Given the description of an element on the screen output the (x, y) to click on. 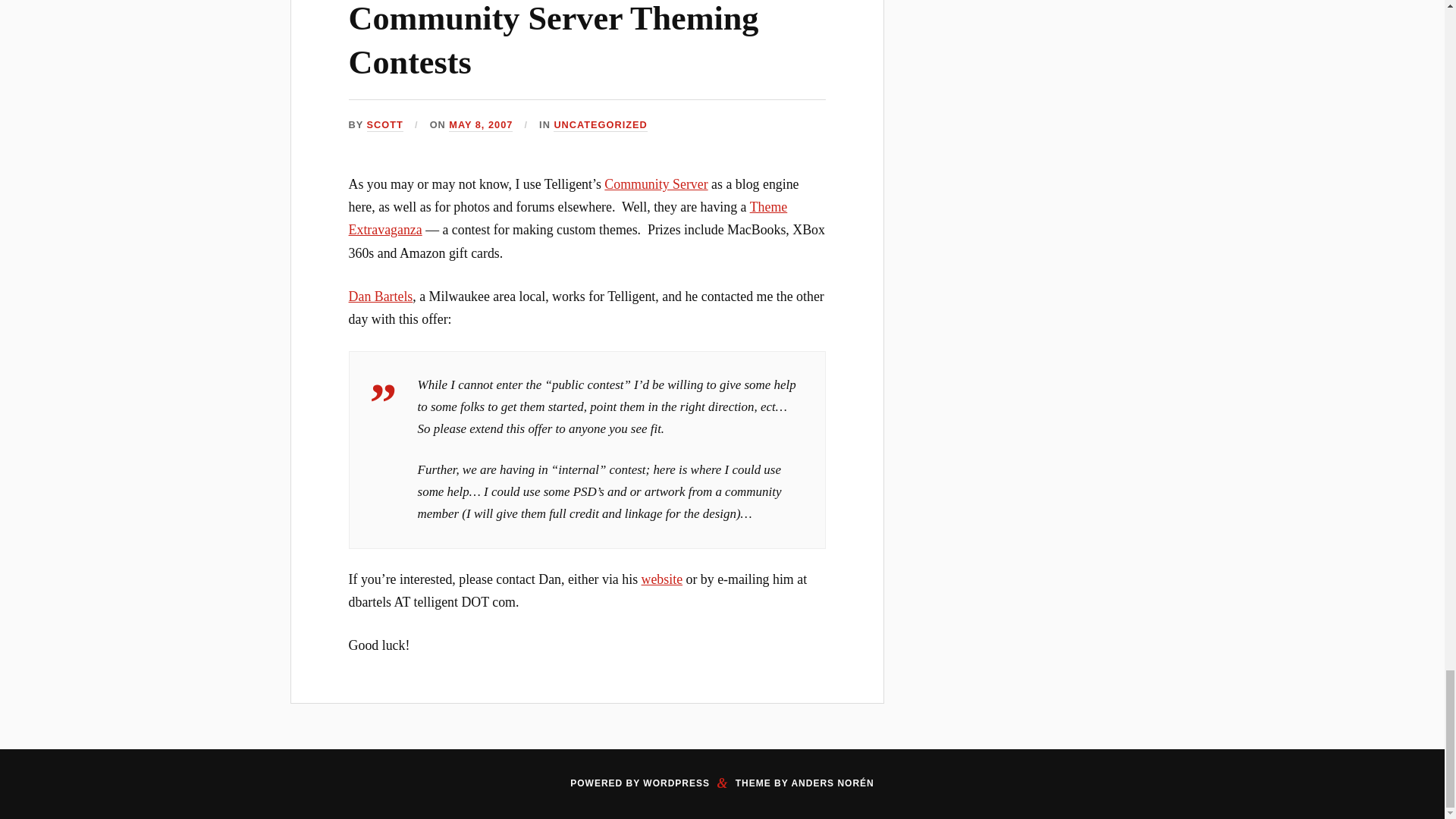
MAY 8, 2007 (480, 124)
Theme Extravaganza (568, 218)
SCOTT (384, 124)
Posts by Scott (384, 124)
UNCATEGORIZED (599, 124)
Community Server Theming Contests (553, 40)
Dan Bartels (381, 296)
website (662, 579)
Community Server (655, 183)
